Given the description of an element on the screen output the (x, y) to click on. 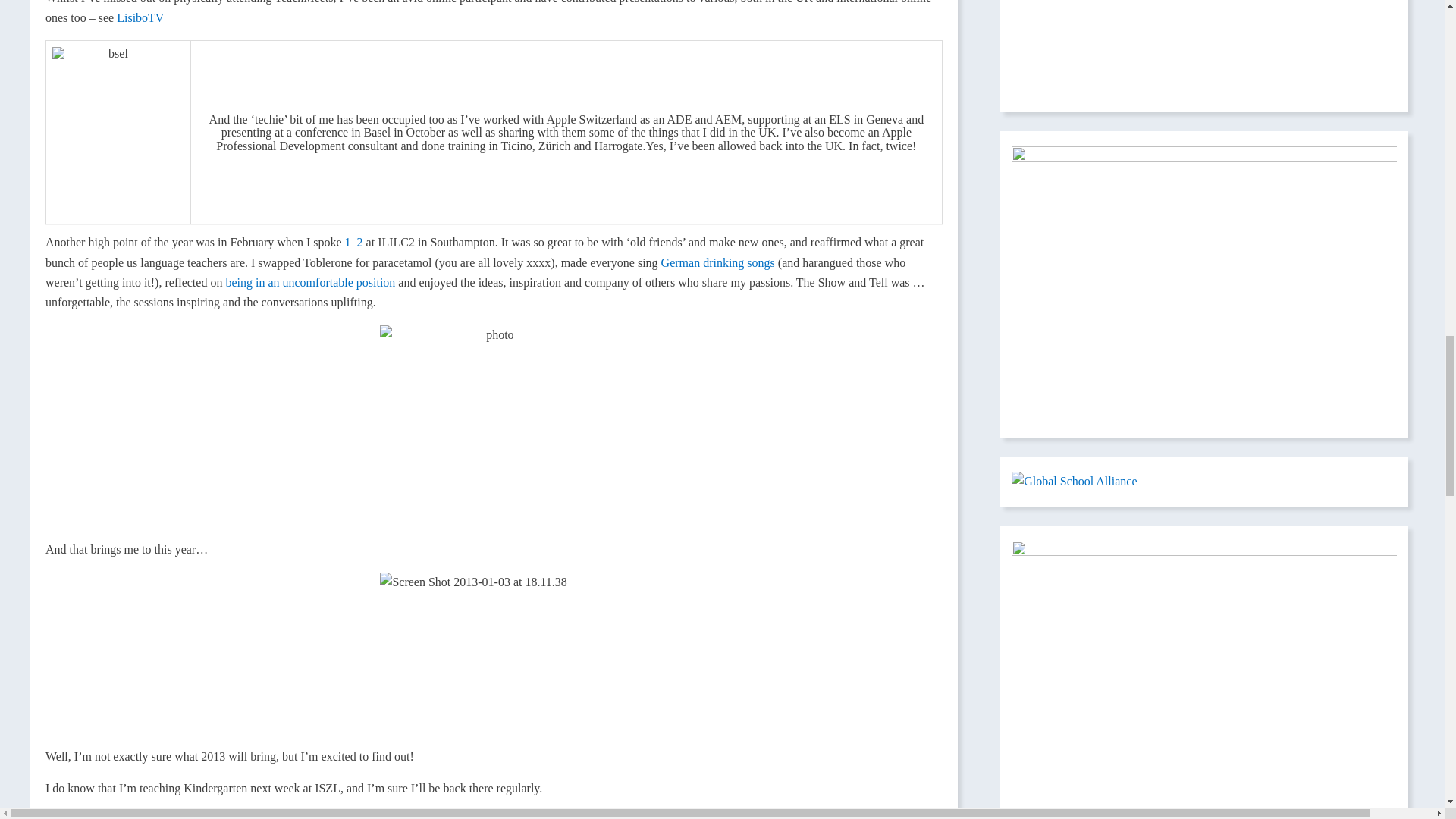
German drinking songs (719, 262)
LisiboTV (139, 17)
being in an uncomfortable position (309, 282)
